Given the description of an element on the screen output the (x, y) to click on. 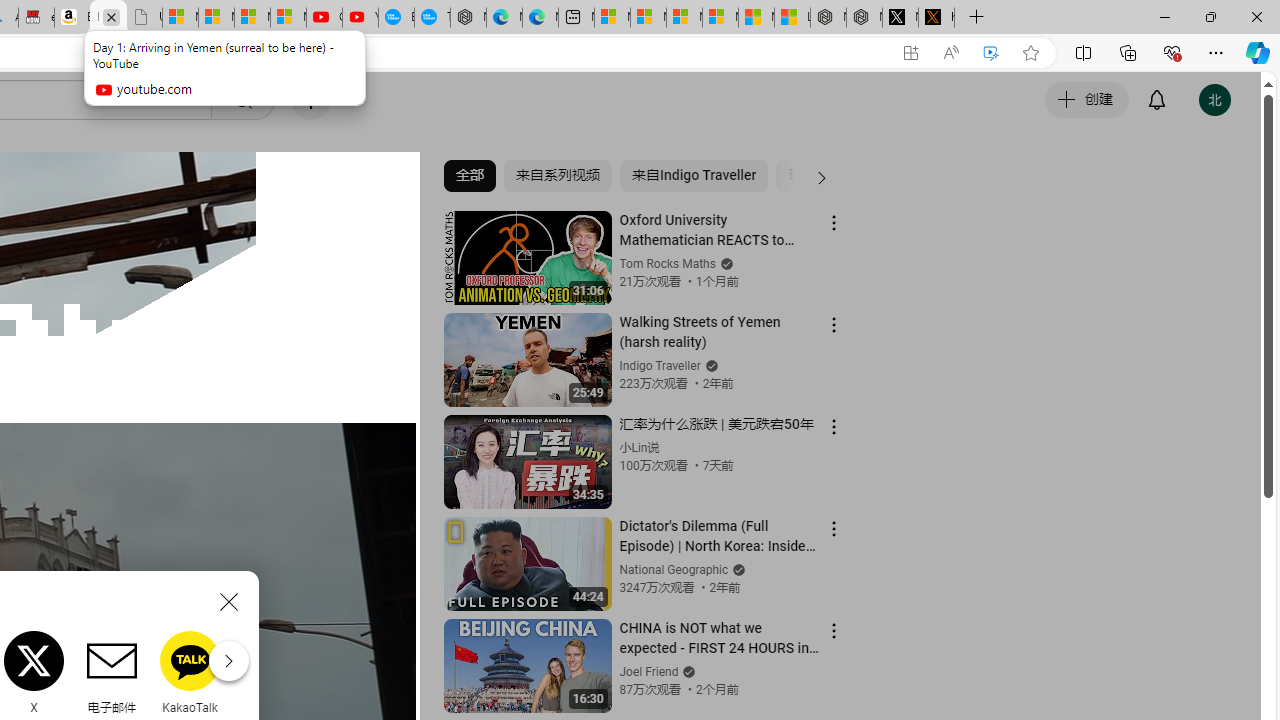
Gloom - YouTube (324, 17)
Microsoft account | Microsoft Account Privacy Settings (648, 17)
App available. Install YouTube (910, 53)
